Given the description of an element on the screen output the (x, y) to click on. 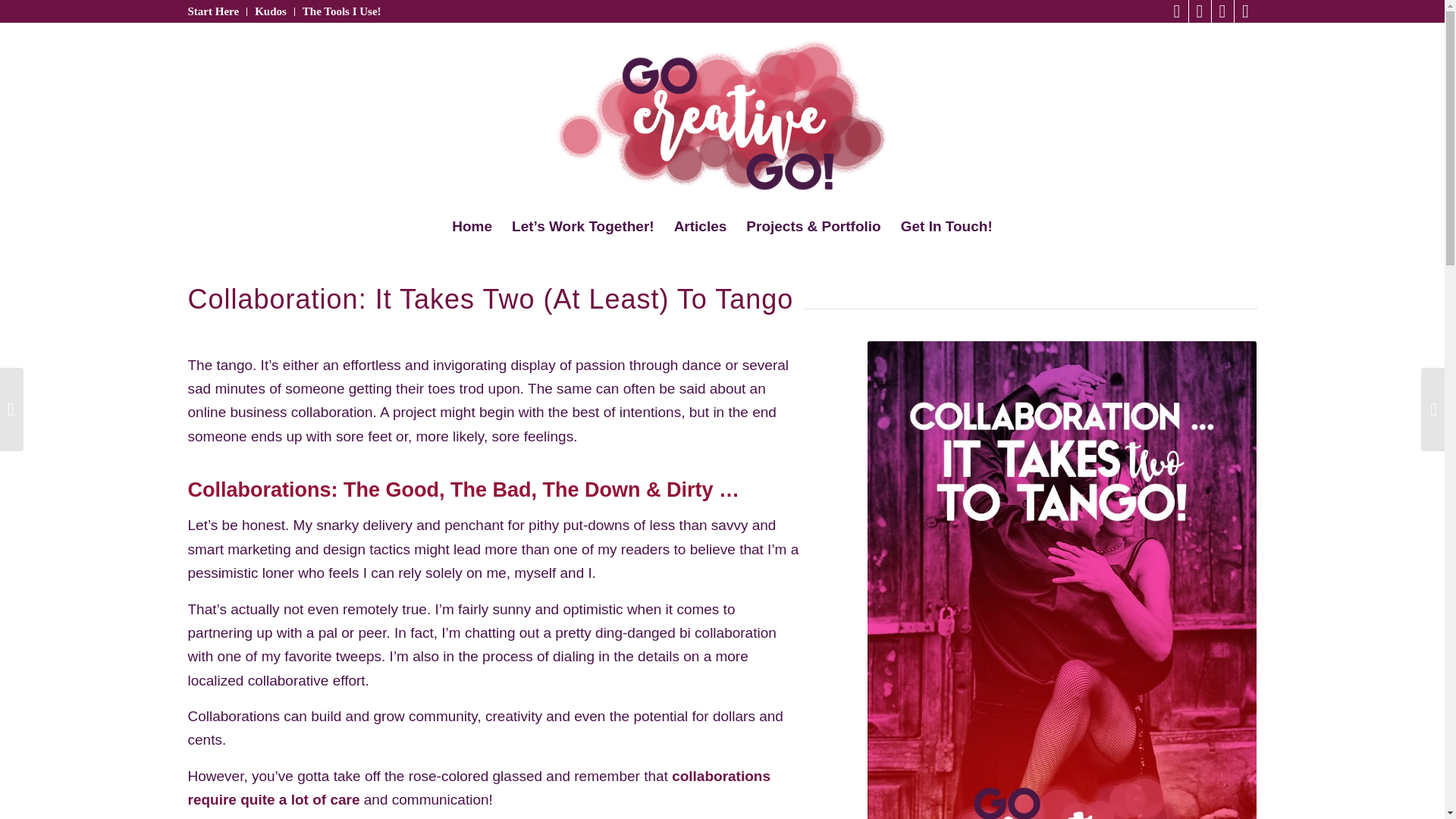
Twitter (1177, 11)
Home (472, 226)
collaborations require quite a lot of care (478, 787)
Facebook (1200, 11)
Get In Touch! (947, 226)
The Tools I Use! (341, 11)
Kudos (270, 11)
Articles (699, 226)
Instagram (1222, 11)
Pinterest (1245, 11)
